Given the description of an element on the screen output the (x, y) to click on. 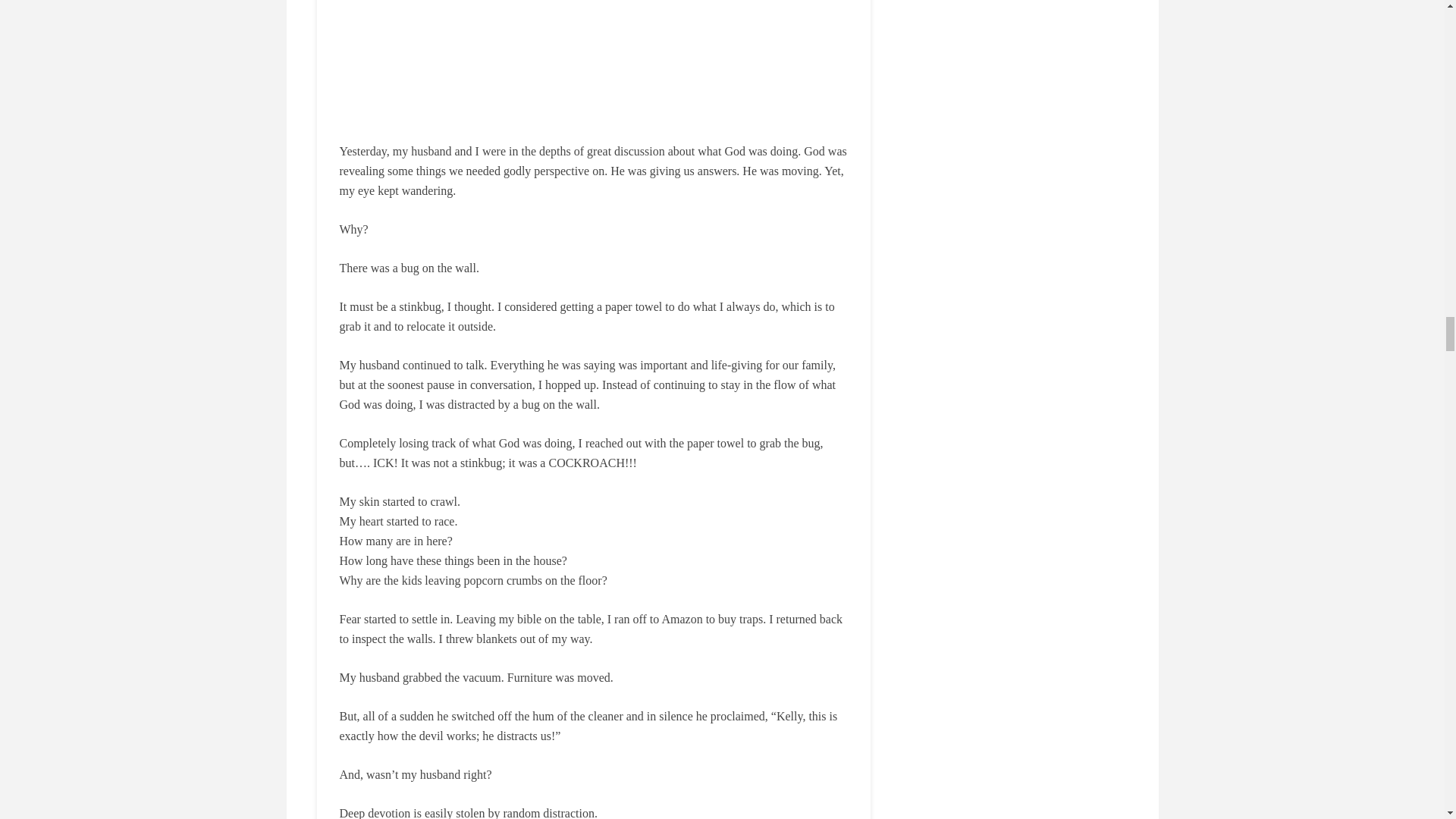
Three Ways to Keep our Eyes on God (593, 61)
